Given the description of an element on the screen output the (x, y) to click on. 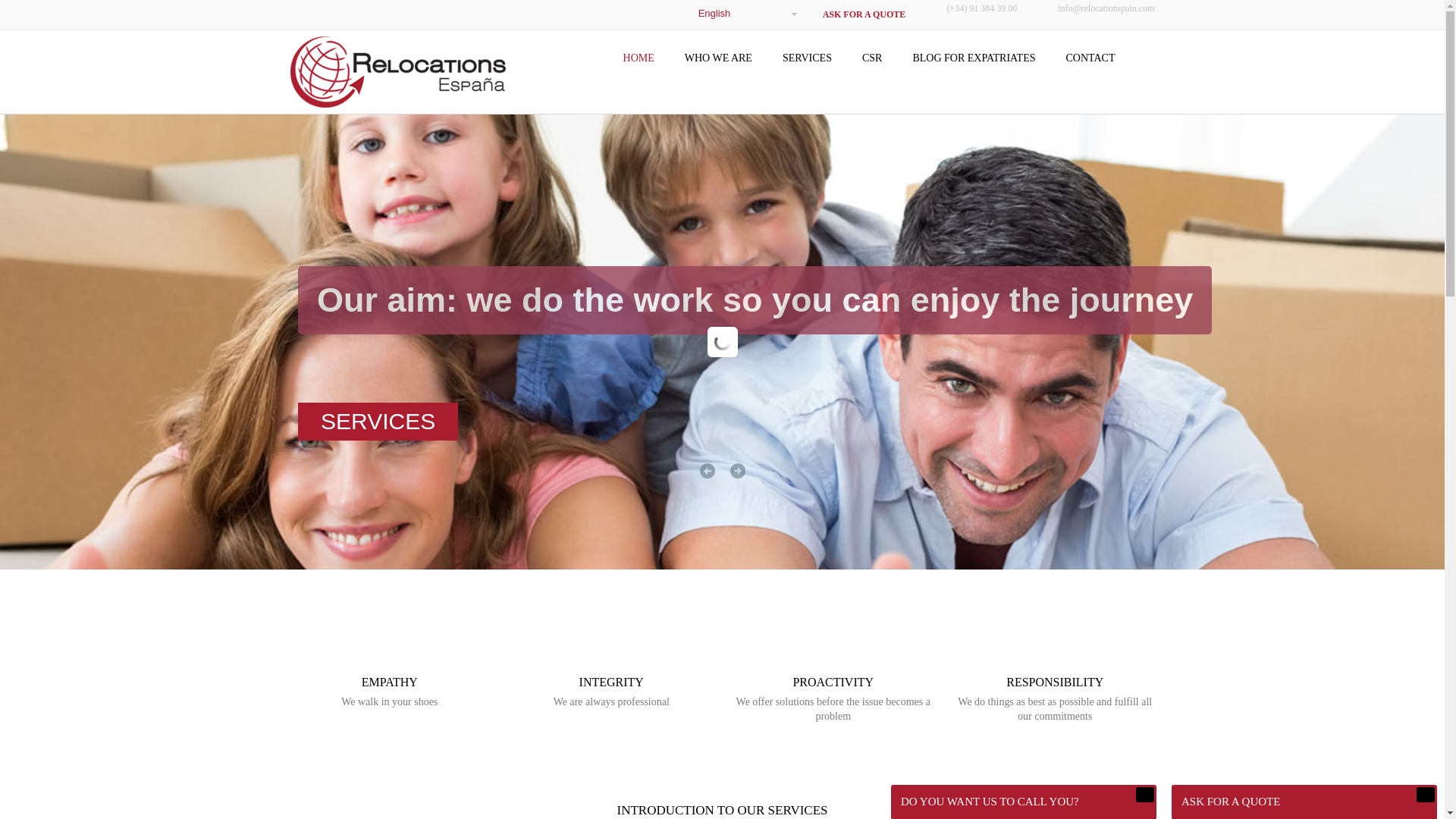
SERVICES (807, 57)
WHO WE ARE (718, 57)
SERVICES (377, 421)
CONTACT (1090, 57)
ASK FOR A QUOTE (863, 14)
English (743, 13)
BLOG FOR EXPATRIATES (389, 685)
